Given the description of an element on the screen output the (x, y) to click on. 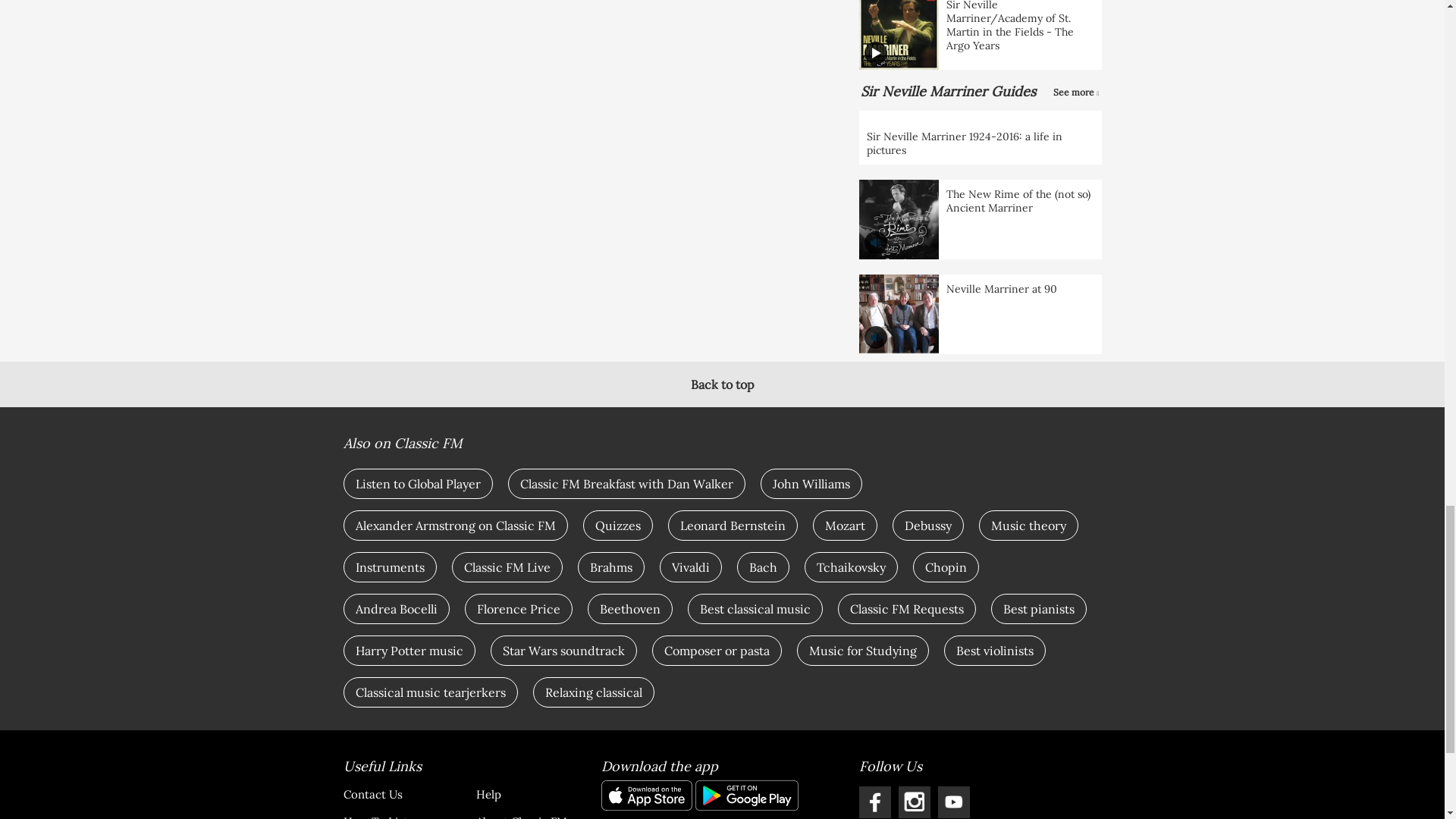
Follow Classic FM on Youtube (953, 802)
Back to top (722, 384)
Follow Classic FM on Facebook (874, 802)
Follow Classic FM on Instagram (914, 802)
